Given the description of an element on the screen output the (x, y) to click on. 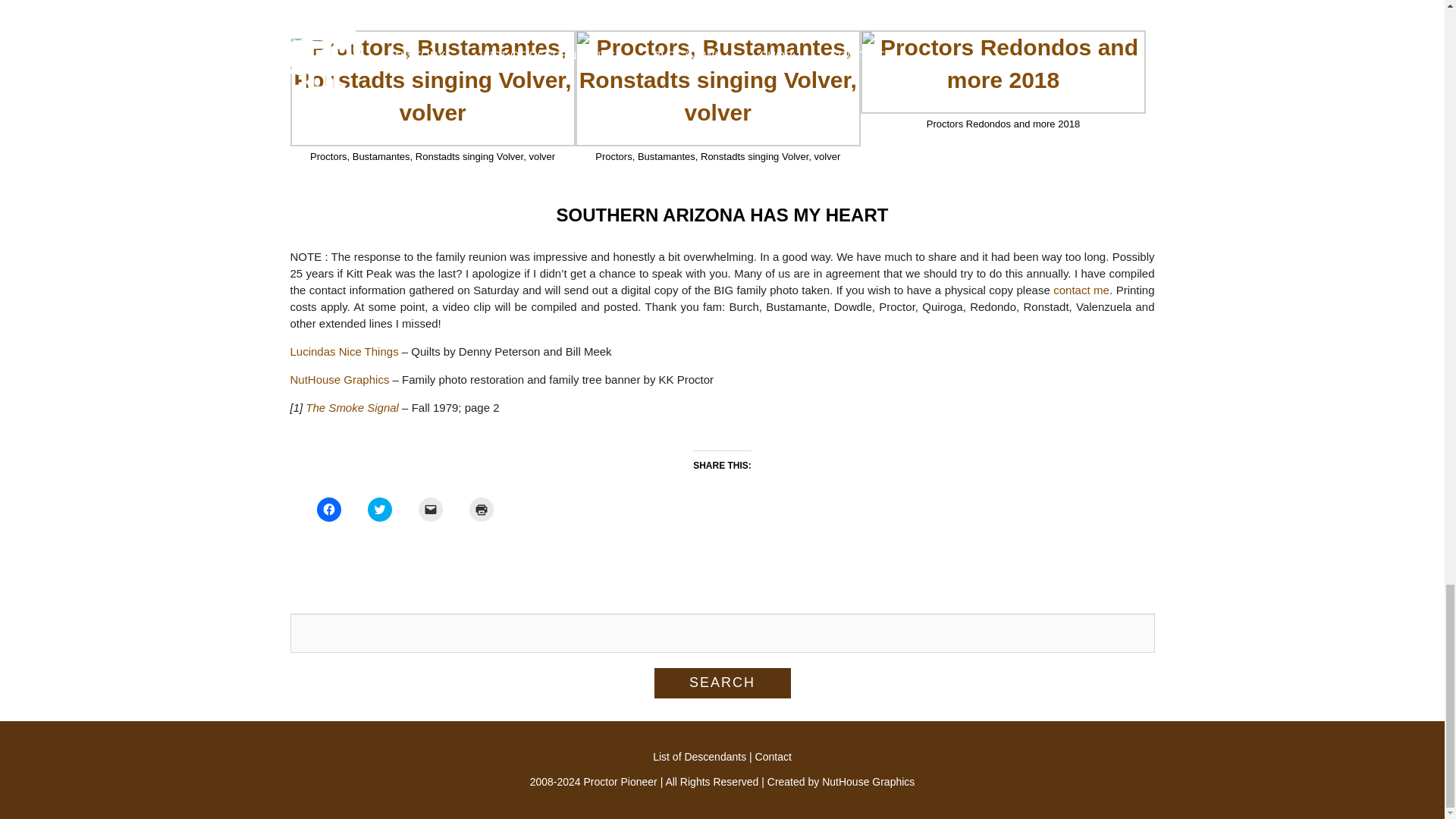
Click to share on Facebook (328, 509)
Click to email a link to a friend (430, 509)
Search (721, 683)
Click to share on Twitter (378, 509)
Click to print (480, 509)
